Given the description of an element on the screen output the (x, y) to click on. 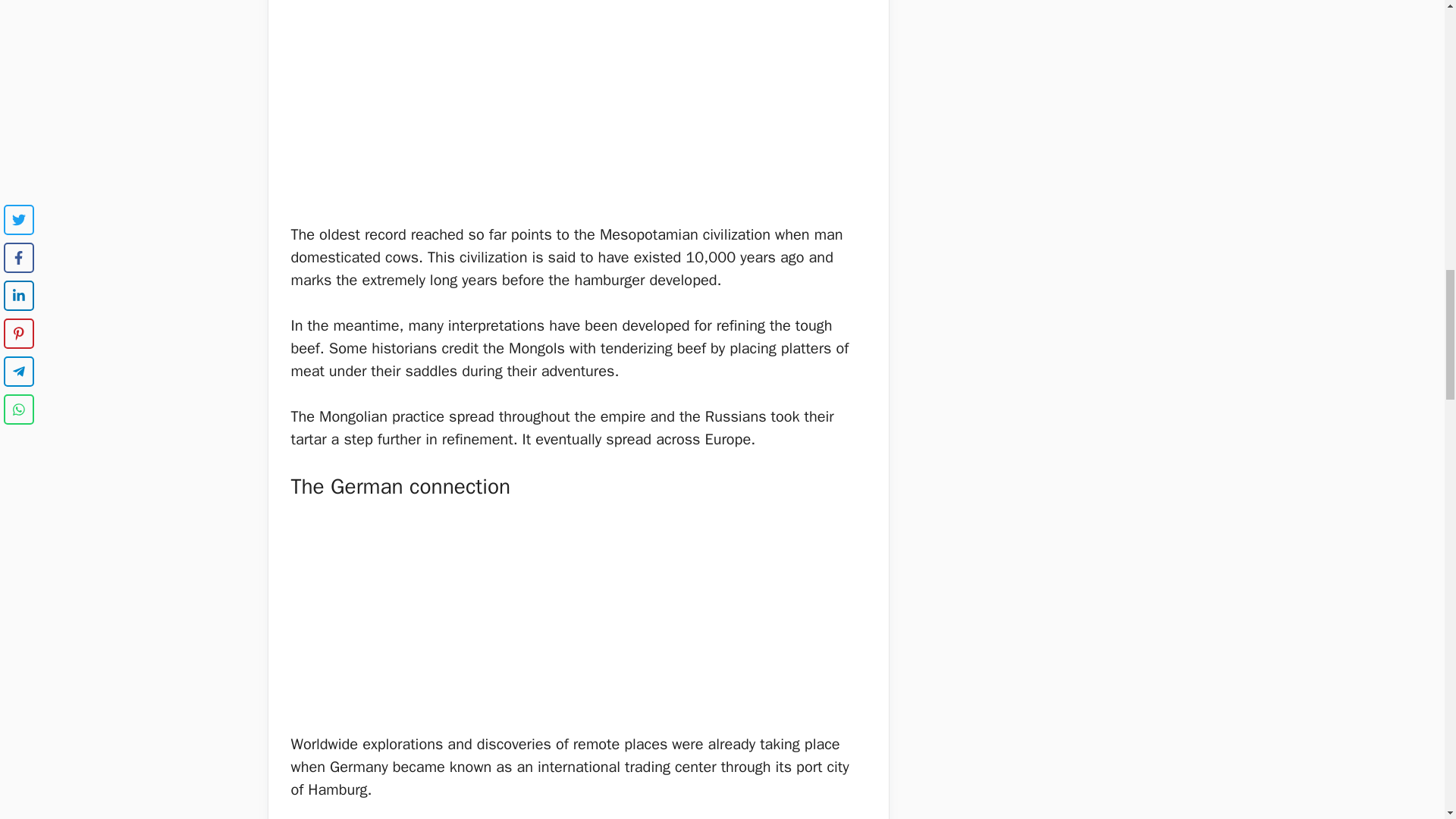
Advertisement (578, 110)
Advertisement (578, 621)
